Given the description of an element on the screen output the (x, y) to click on. 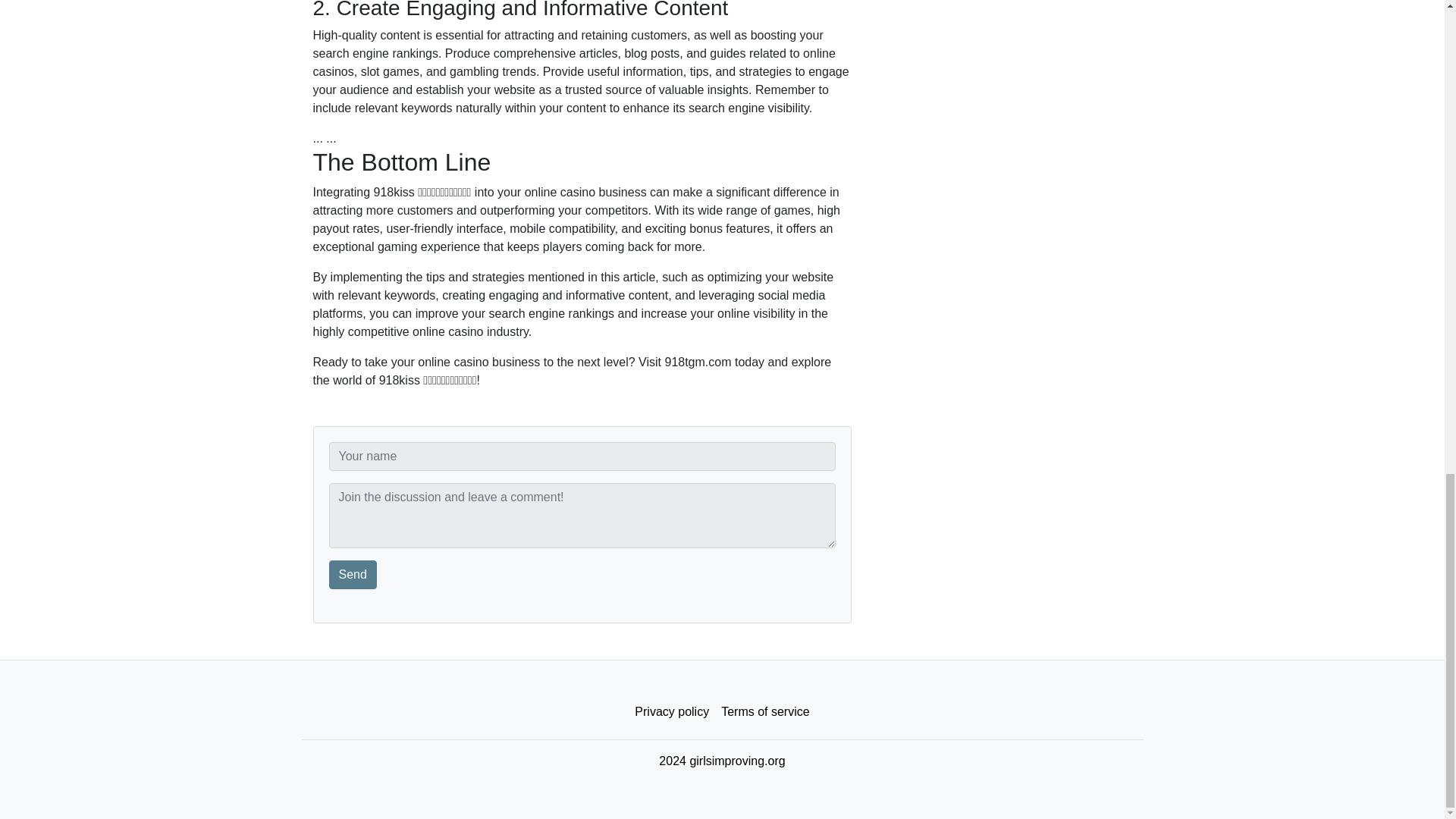
Privacy policy (671, 711)
Send (353, 574)
Send (353, 574)
Terms of service (764, 711)
